Given the description of an element on the screen output the (x, y) to click on. 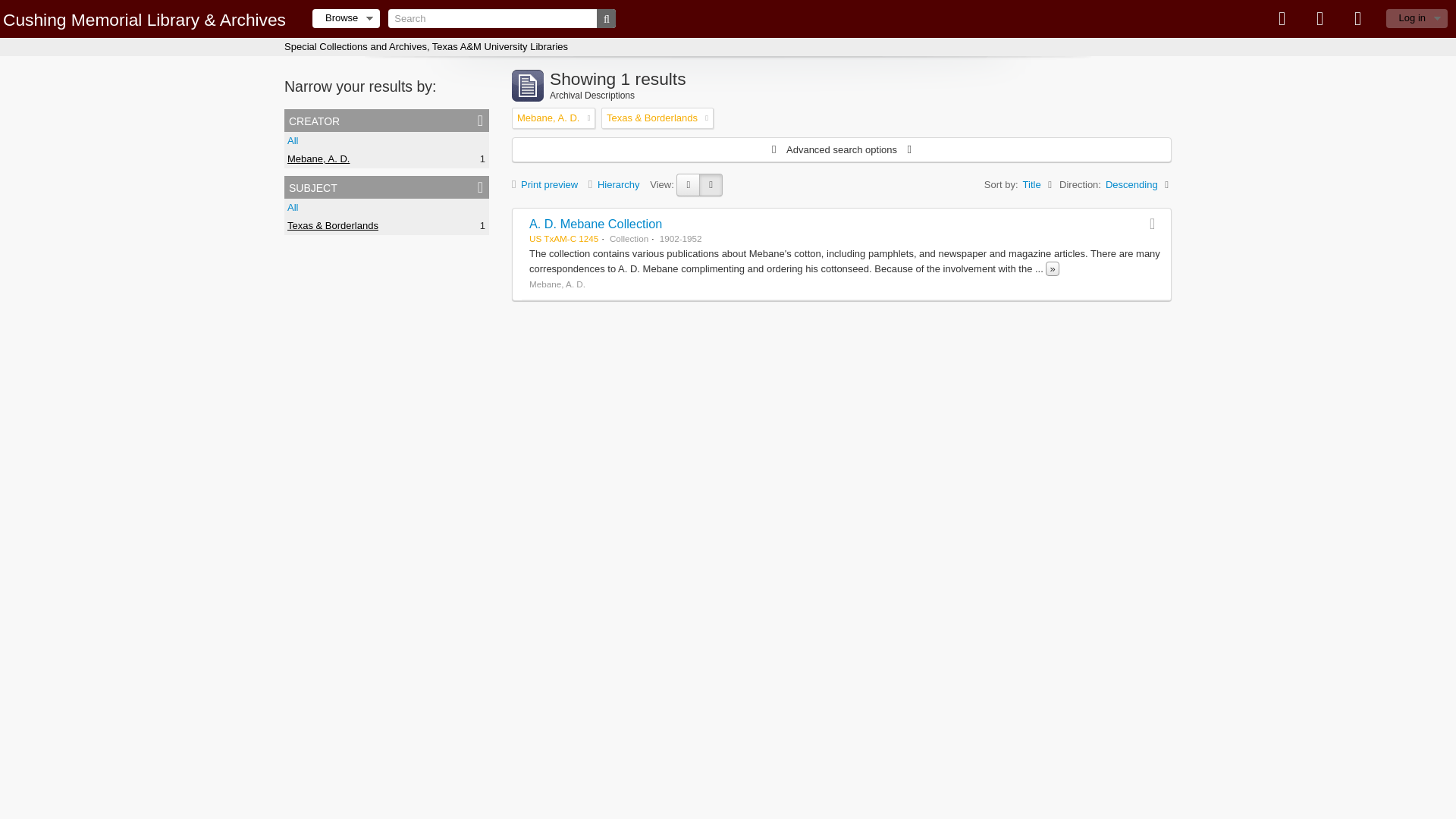
Quick links (1358, 18)
Mebane, A. D. (317, 158)
subject (386, 187)
Advanced search options (841, 149)
Log in (1416, 18)
Browse (346, 18)
creator (386, 119)
Home (143, 19)
Clipboard (1282, 18)
All (292, 206)
Language (1320, 18)
All (292, 140)
